Given the description of an element on the screen output the (x, y) to click on. 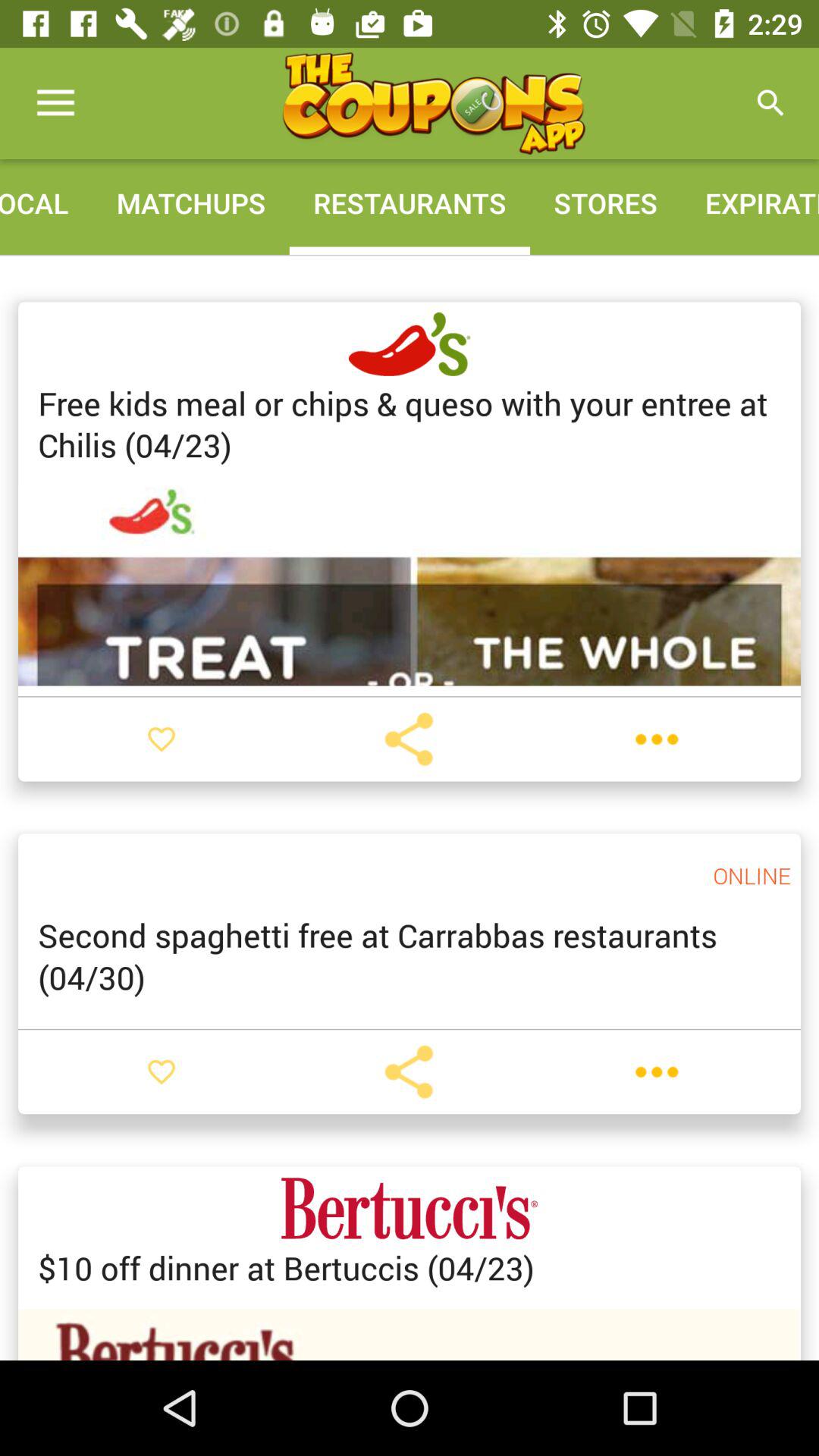
click the item to the right of the stores (771, 103)
